Given the description of an element on the screen output the (x, y) to click on. 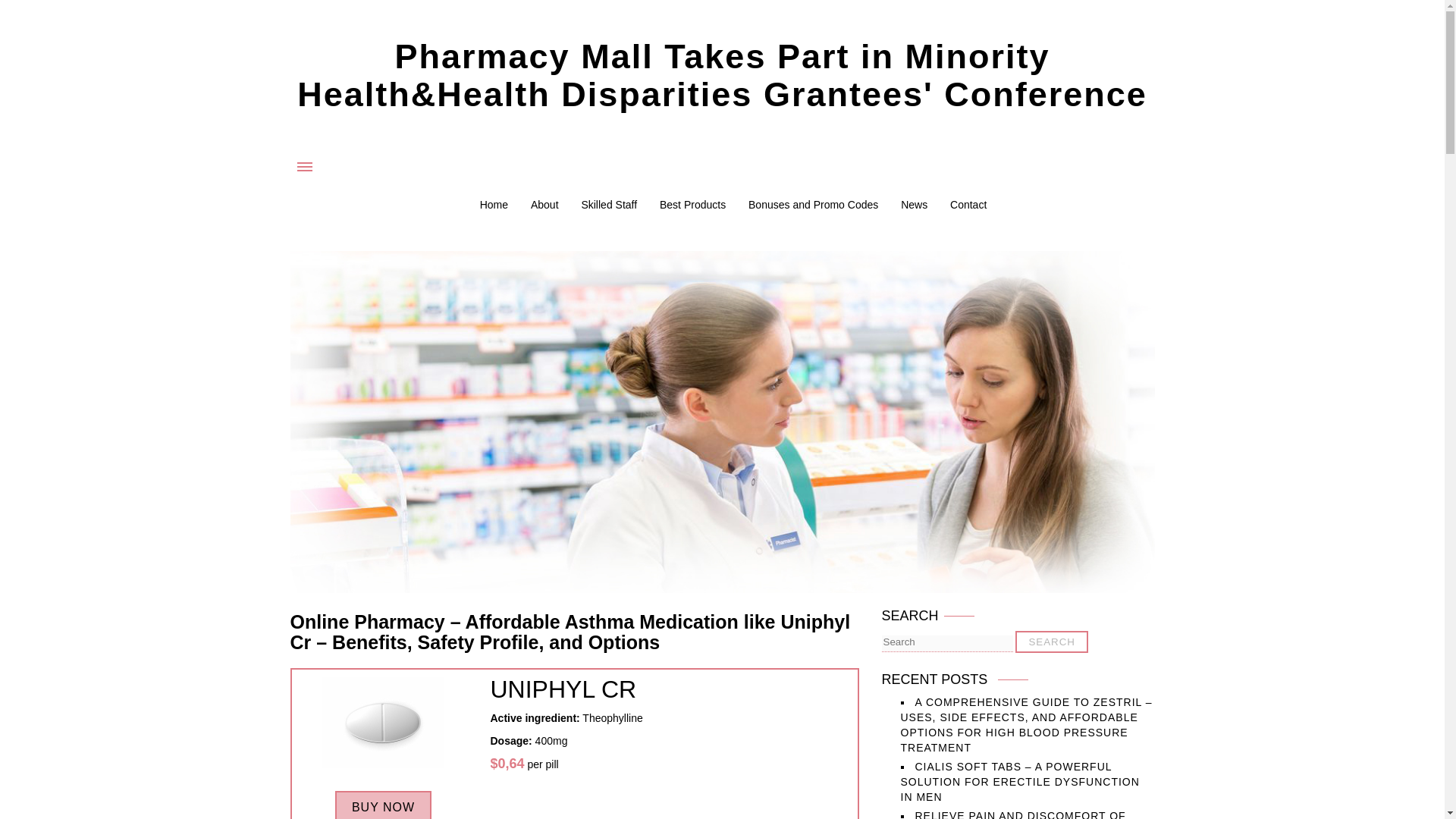
Skilled Staff (608, 204)
Best Products (691, 204)
Home (493, 204)
Menu (304, 166)
Contact (968, 204)
About (544, 204)
BUY NOW (382, 805)
Bonuses and Promo Codes (812, 204)
News (914, 204)
SEARCH (1050, 641)
